Given the description of an element on the screen output the (x, y) to click on. 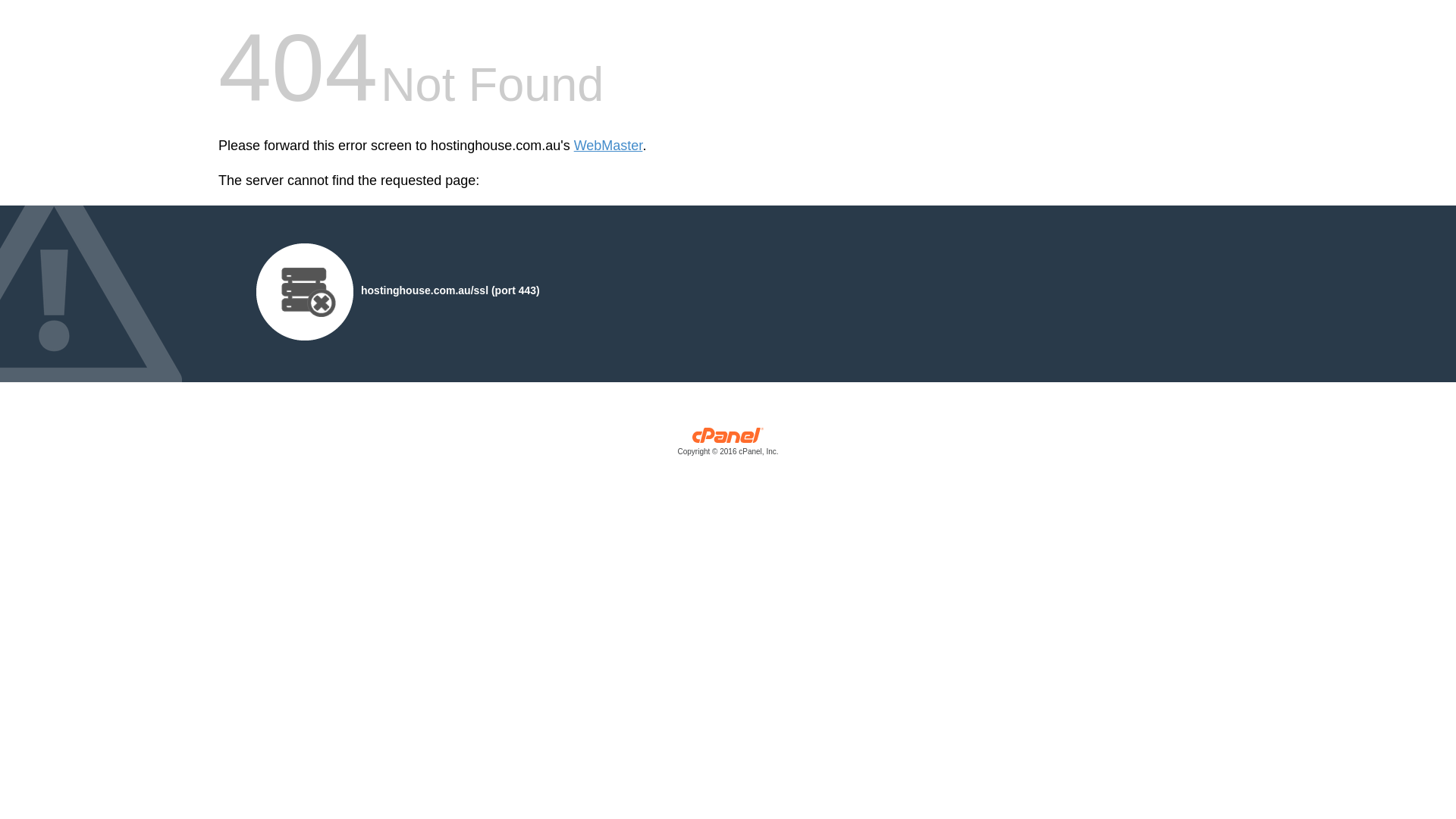
WebMaster Element type: text (608, 145)
